Given the description of an element on the screen output the (x, y) to click on. 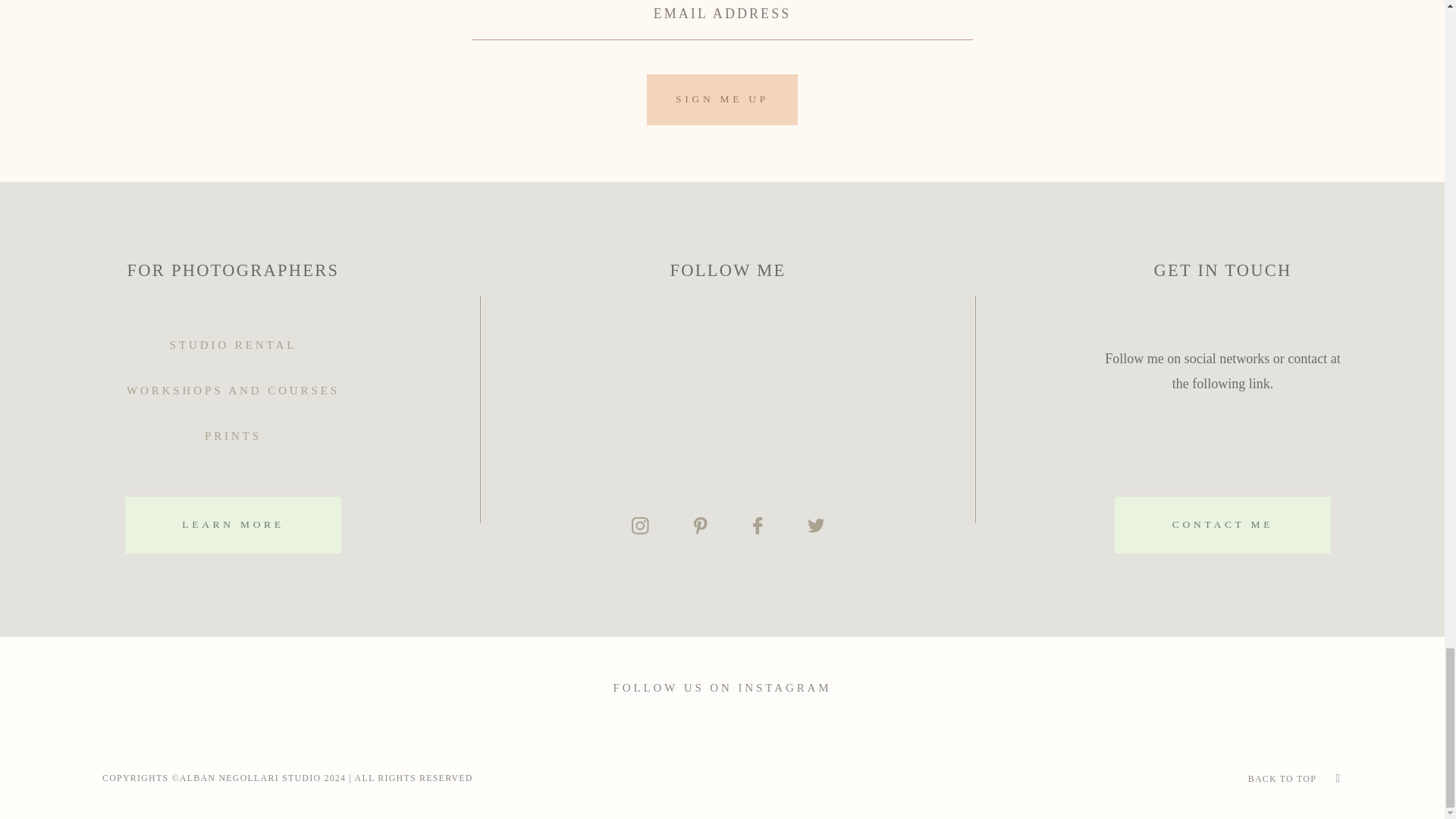
CONTACT ME (1222, 524)
SIGN ME UP (721, 99)
LEARN MORE (232, 524)
BACK TO TOP (1135, 778)
BACK TO TOP (1281, 777)
